Given the description of an element on the screen output the (x, y) to click on. 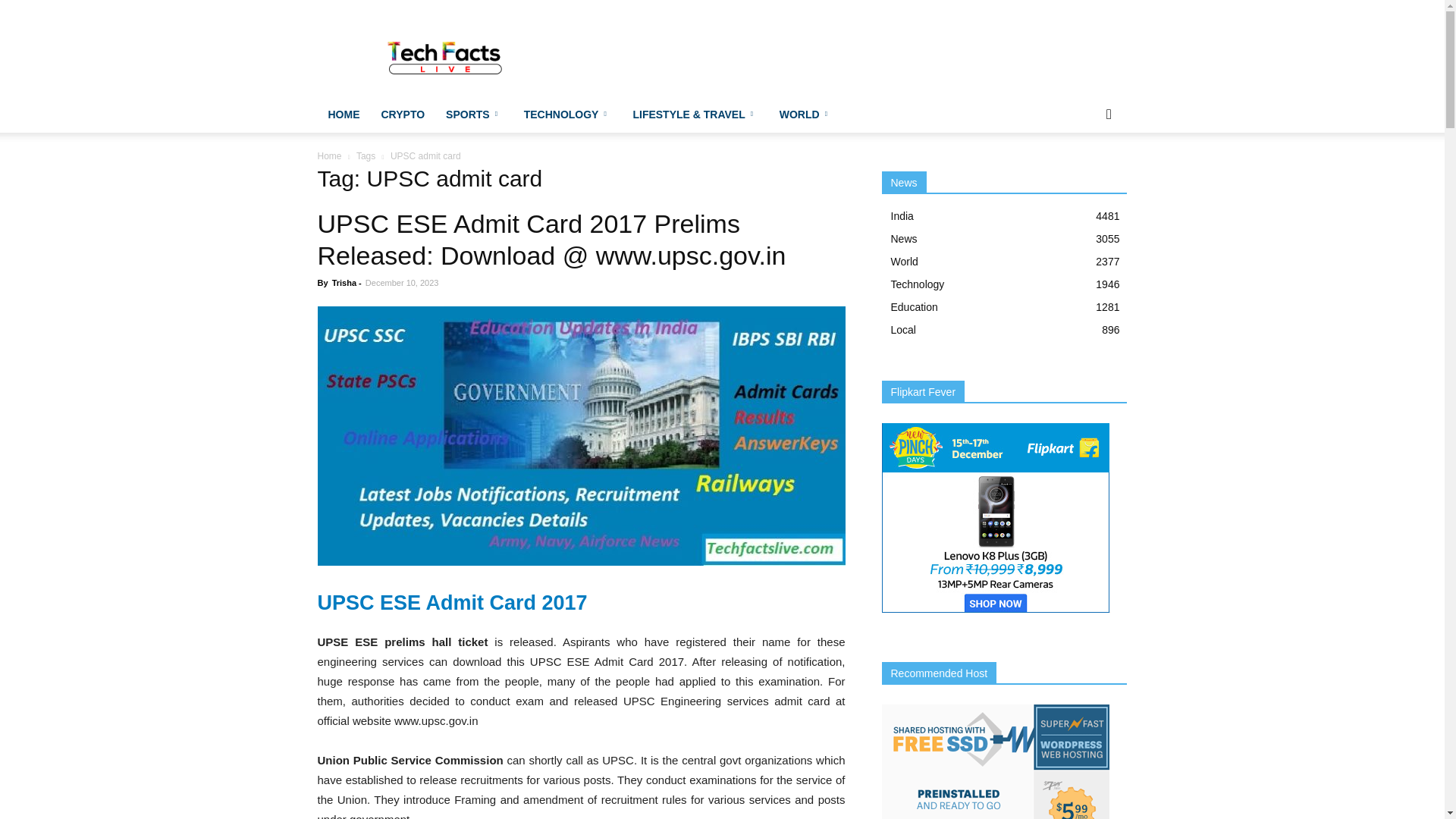
SPORTS (474, 114)
TF Live (446, 55)
WORLD (805, 114)
CRYPTO (402, 114)
HOME (343, 114)
TECHNOLOGY (568, 114)
